Given the description of an element on the screen output the (x, y) to click on. 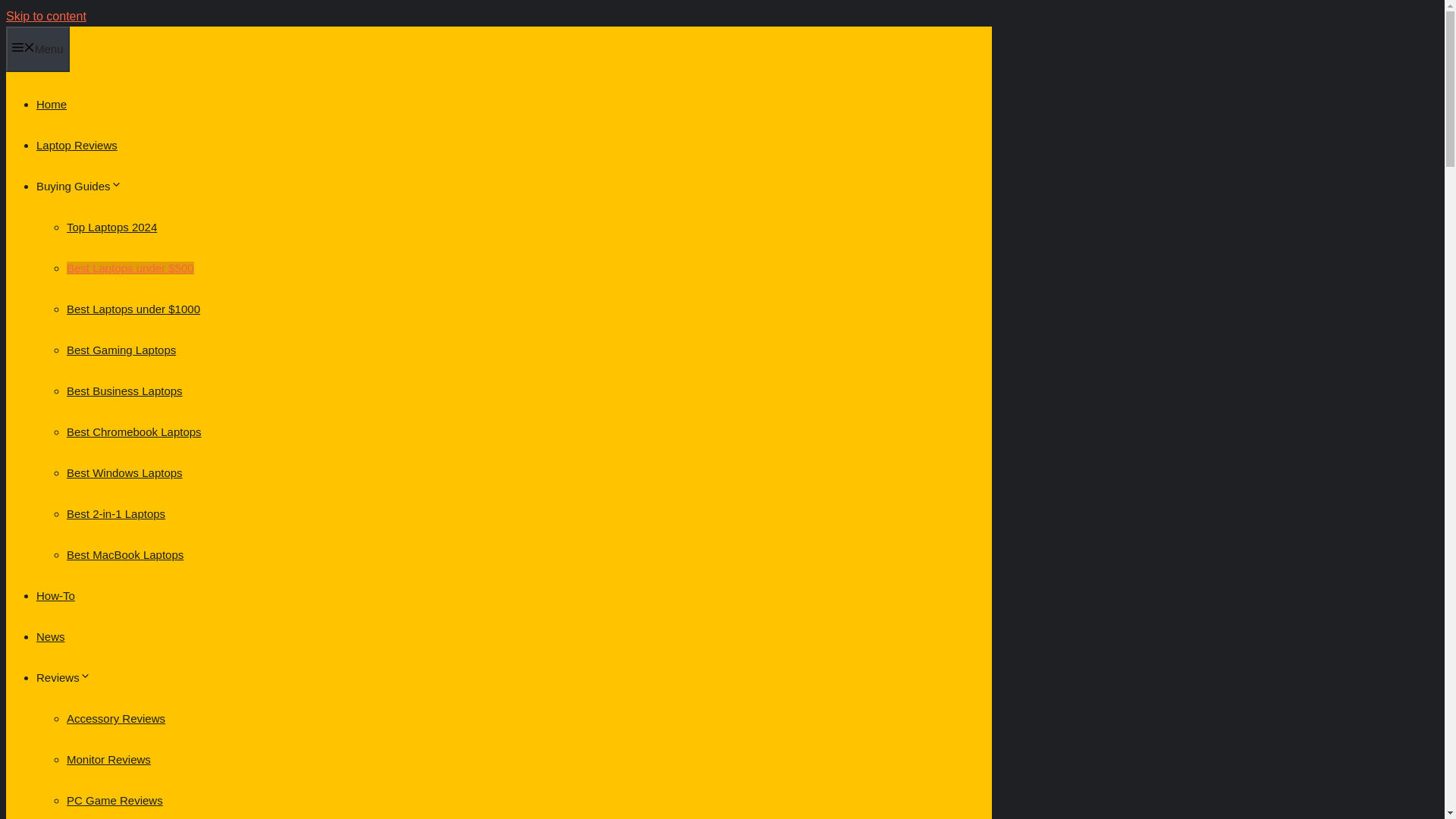
Skip to content (45, 15)
Best MacBook Laptops (124, 554)
Top Laptops 2024 (111, 226)
Skip to content (45, 15)
Laptop Reviews (76, 144)
Best Chromebook Laptops (134, 431)
Home (51, 103)
Reviews (63, 676)
Best Business Laptops (124, 390)
How-To (55, 594)
